Given the description of an element on the screen output the (x, y) to click on. 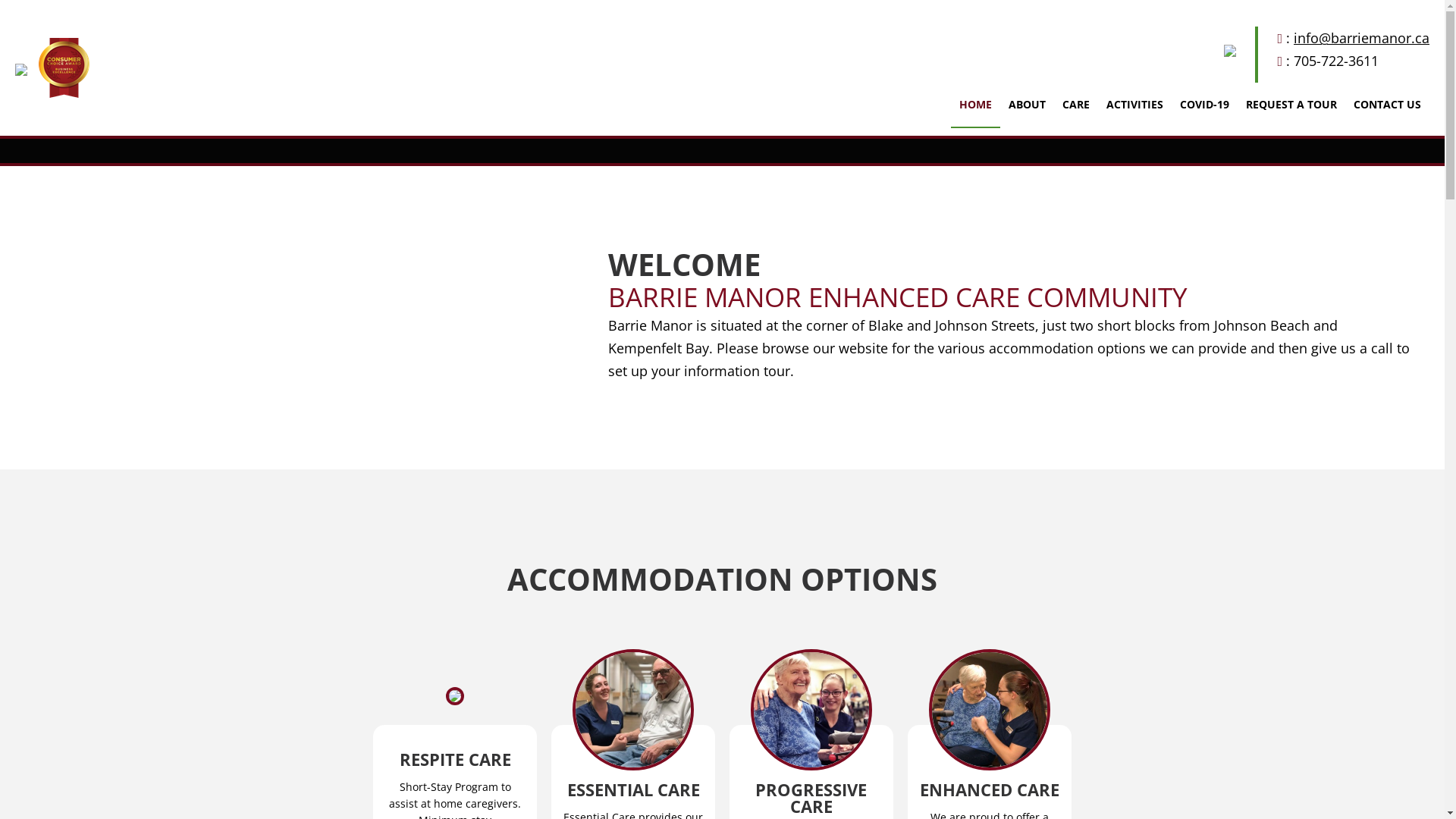
ACTIVITIES Element type: text (1134, 105)
RESPITE CARE Element type: text (455, 758)
ABOUT Element type: text (1027, 105)
COVID-19 Element type: text (1204, 105)
CONTACT US Element type: text (1387, 105)
CARE Element type: text (1076, 105)
ENHANCED CARE Element type: text (989, 789)
Choice Award Element type: hover (63, 67)
HOME Element type: text (975, 105)
REQUEST A TOUR Element type: text (1291, 105)
info@barriemanor.ca Element type: text (1361, 37)
PROGRESSIVE CARE Element type: text (810, 797)
ESSENTIAL CARE Element type: text (633, 789)
